Given the description of an element on the screen output the (x, y) to click on. 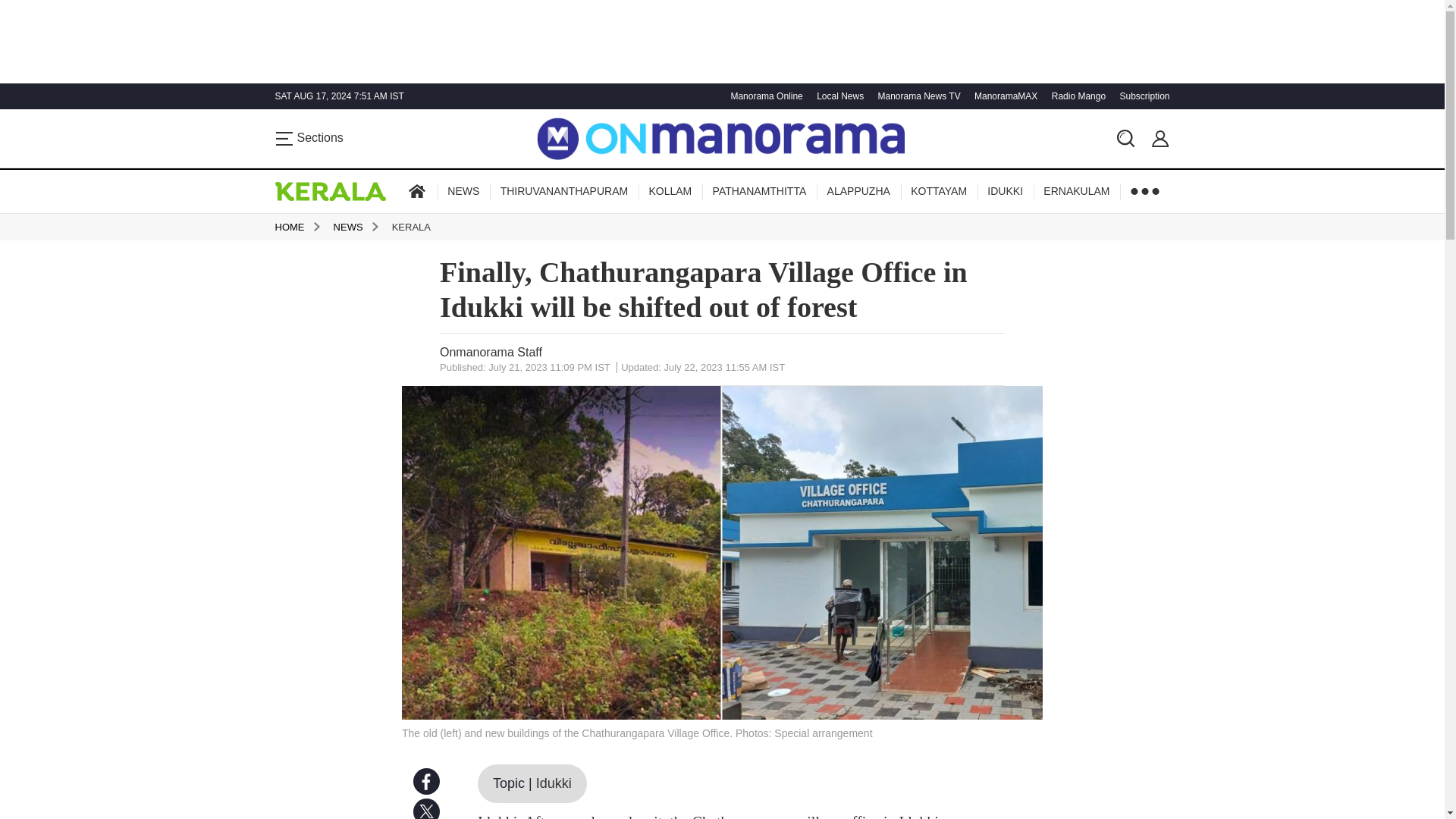
NEWS (462, 191)
Manorama News TV (916, 95)
ManoramaMAX (1003, 95)
PATHANAMTHITTA (758, 191)
Subscription (1142, 95)
KOLLAM (669, 191)
Local News (837, 95)
THIRUVANANTHAPURAM (564, 191)
Manorama Online (764, 95)
Radio Mango (1076, 95)
